Given the description of an element on the screen output the (x, y) to click on. 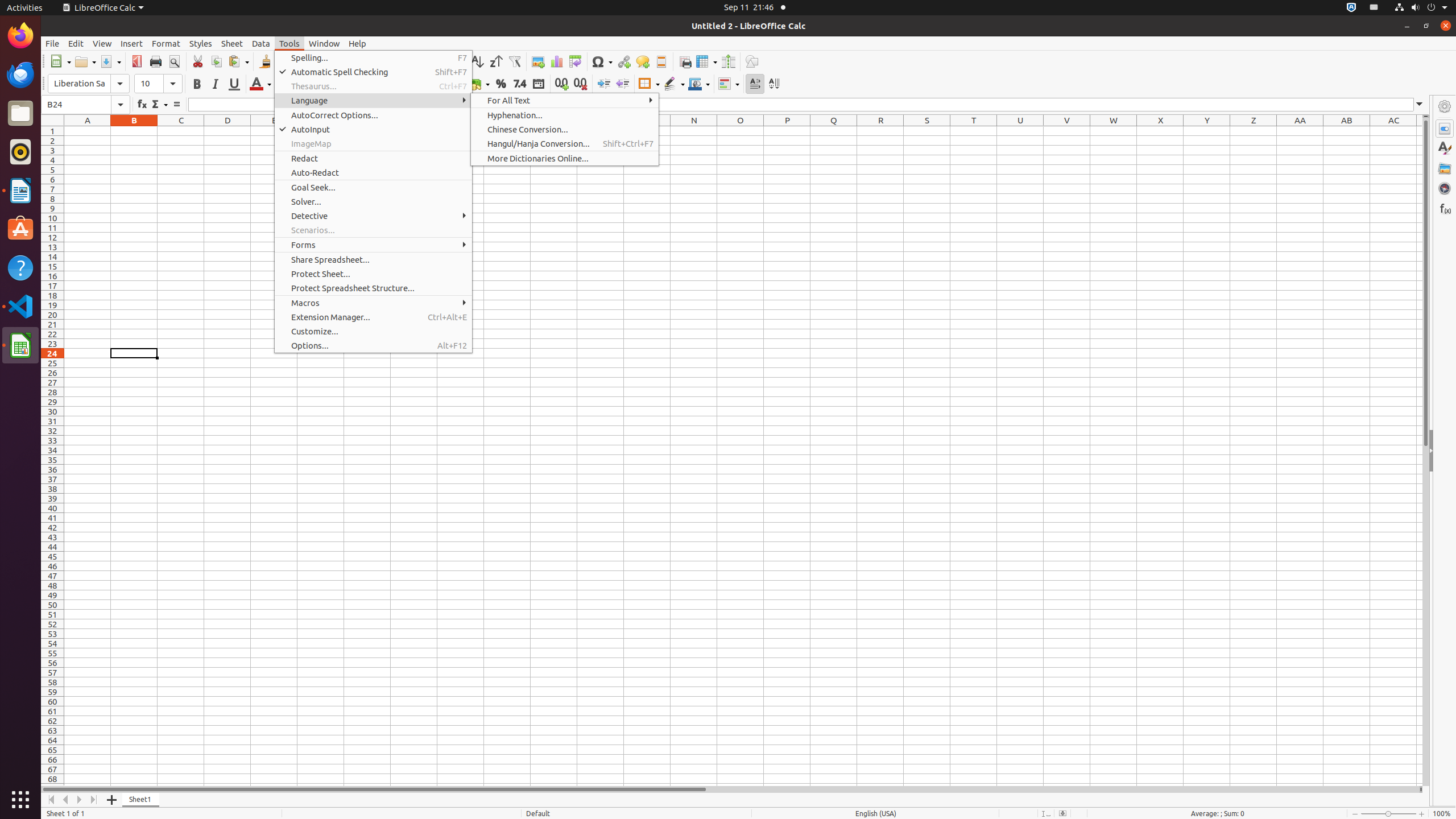
Image Element type: push-button (537, 61)
Freeze Rows and Columns Element type: push-button (705, 61)
Underline Element type: push-button (233, 83)
Border Style Element type: push-button (673, 83)
